Given the description of an element on the screen output the (x, y) to click on. 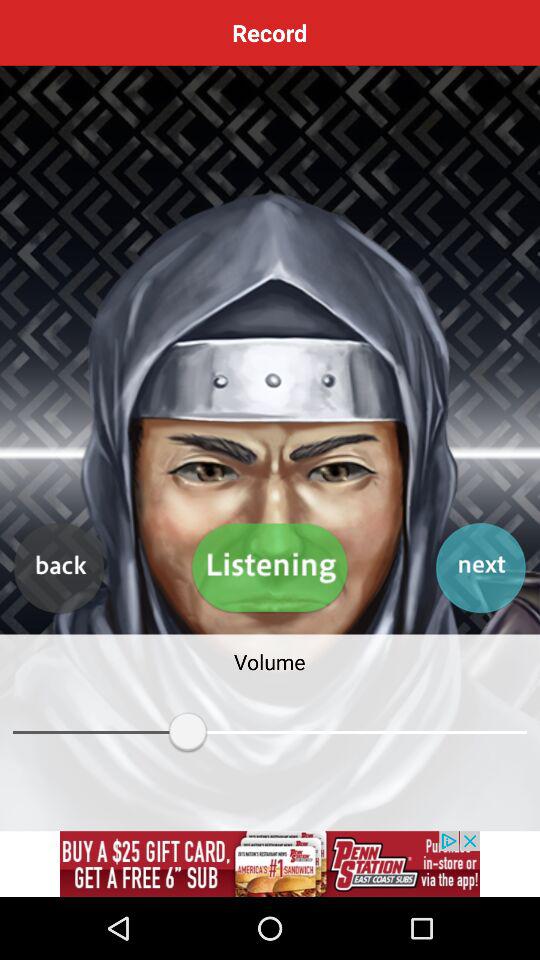
listening (269, 568)
